Given the description of an element on the screen output the (x, y) to click on. 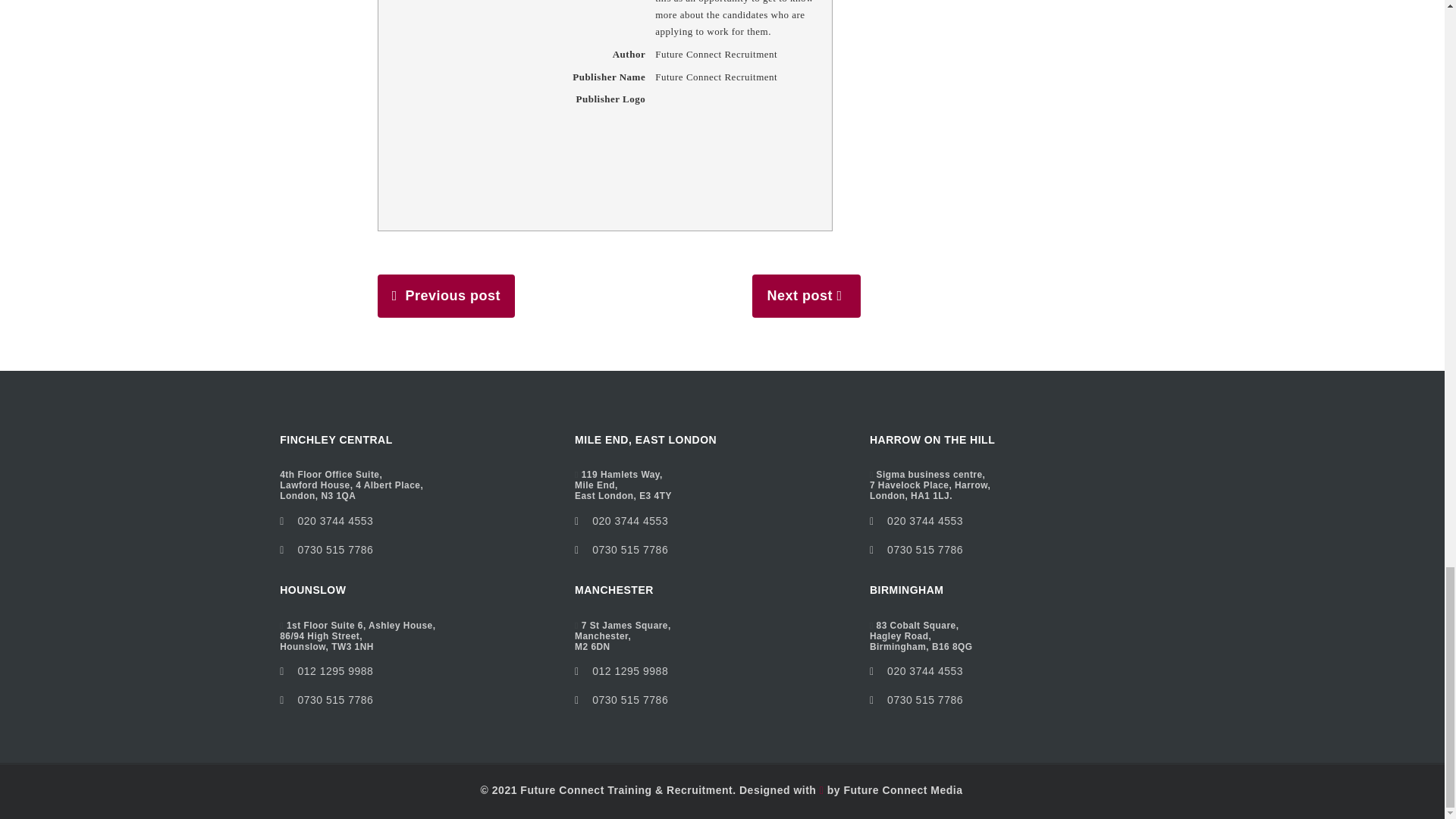
   0730 515 7786 (325, 699)
Previous post (452, 295)
020 3744 4553 (334, 521)
012 1295 9988 (334, 671)
020 3744 4553 (623, 485)
   0730 515 7786 (630, 521)
   0730 515 7786 (621, 549)
Next post (325, 549)
